Given the description of an element on the screen output the (x, y) to click on. 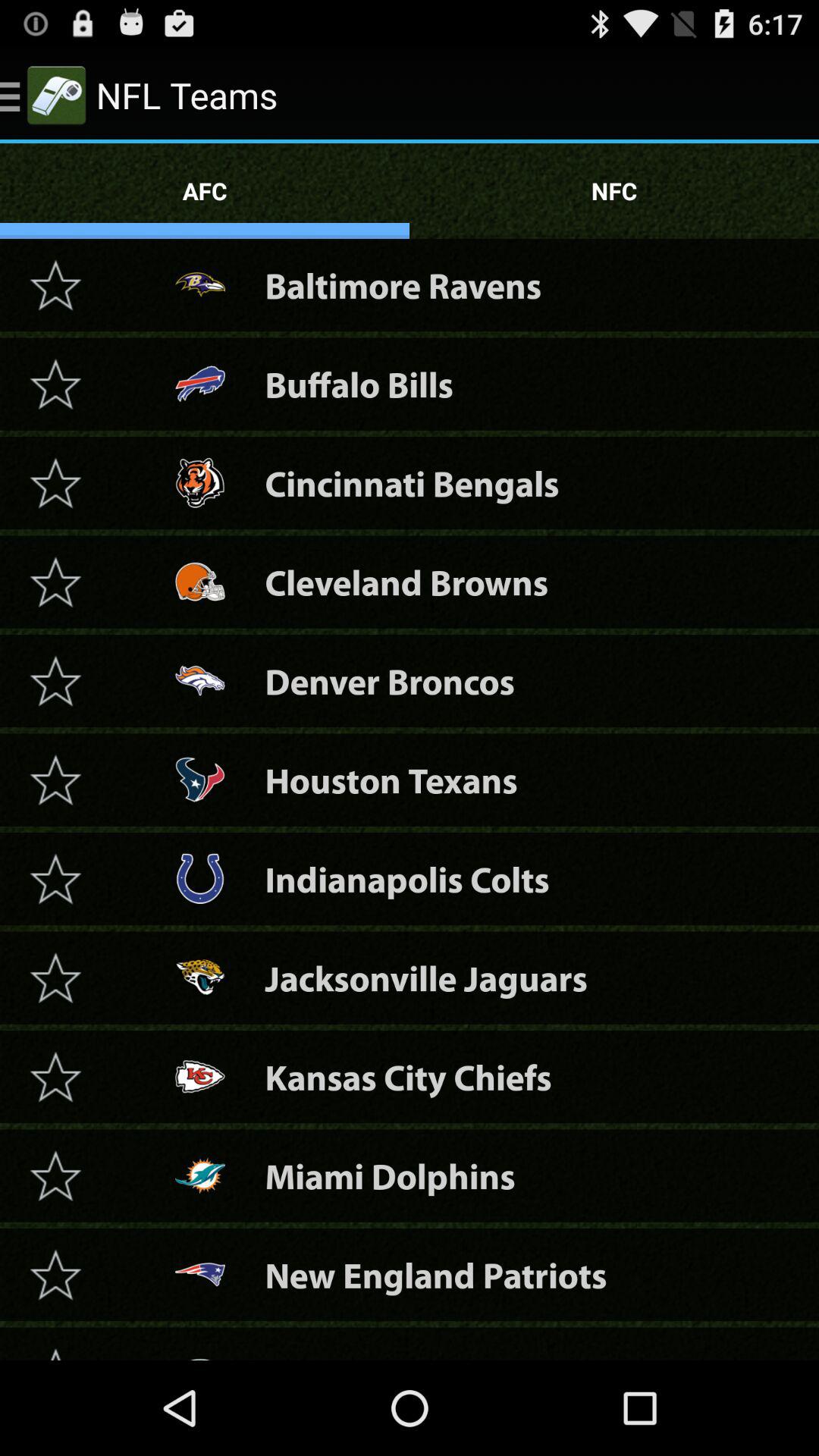
jump until baltimore ravens app (403, 284)
